Given the description of an element on the screen output the (x, y) to click on. 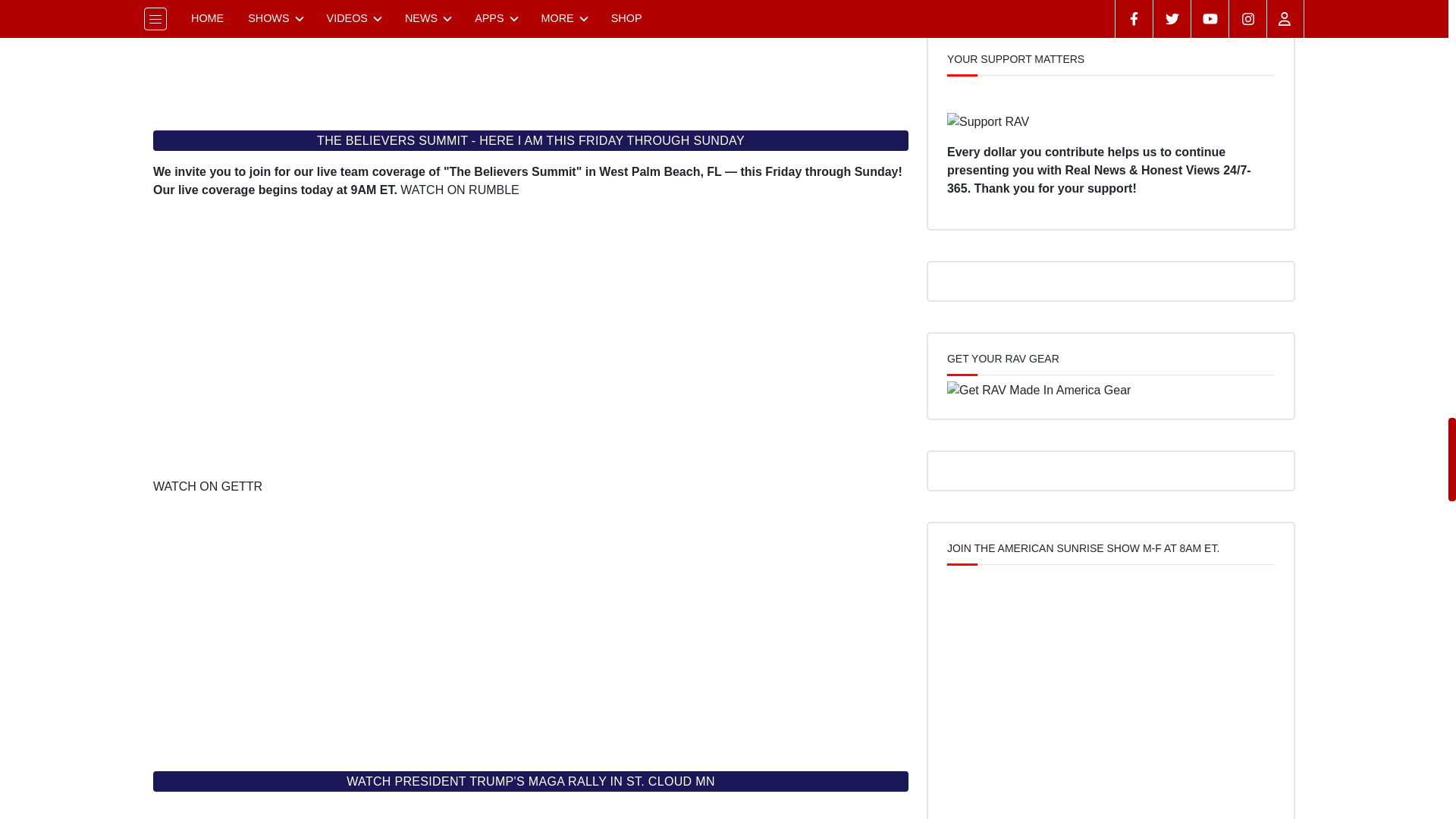
Widget iframe (530, 811)
Widget iframe (530, 56)
